Given the description of an element on the screen output the (x, y) to click on. 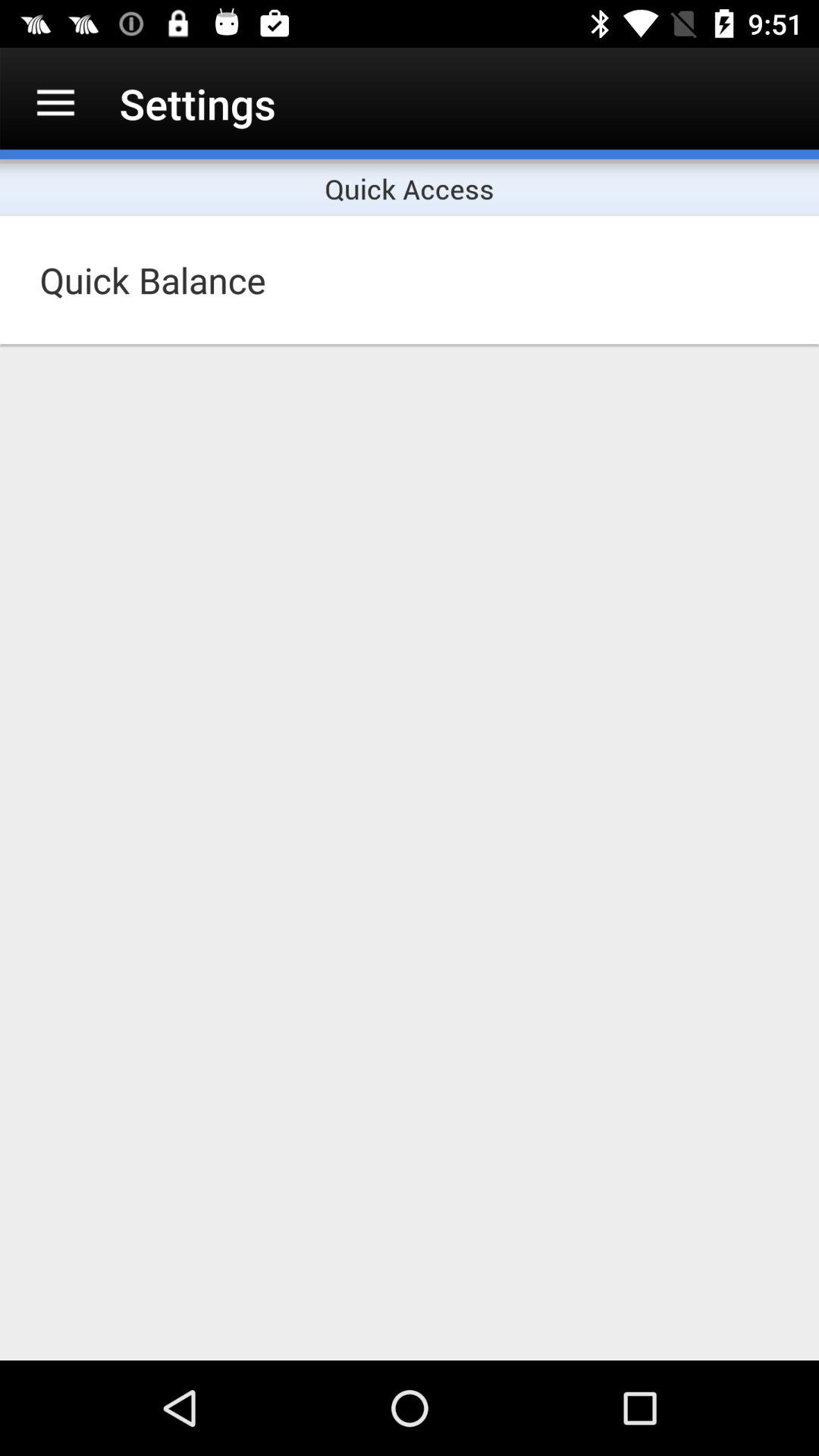
open icon to the left of settings app (55, 103)
